Given the description of an element on the screen output the (x, y) to click on. 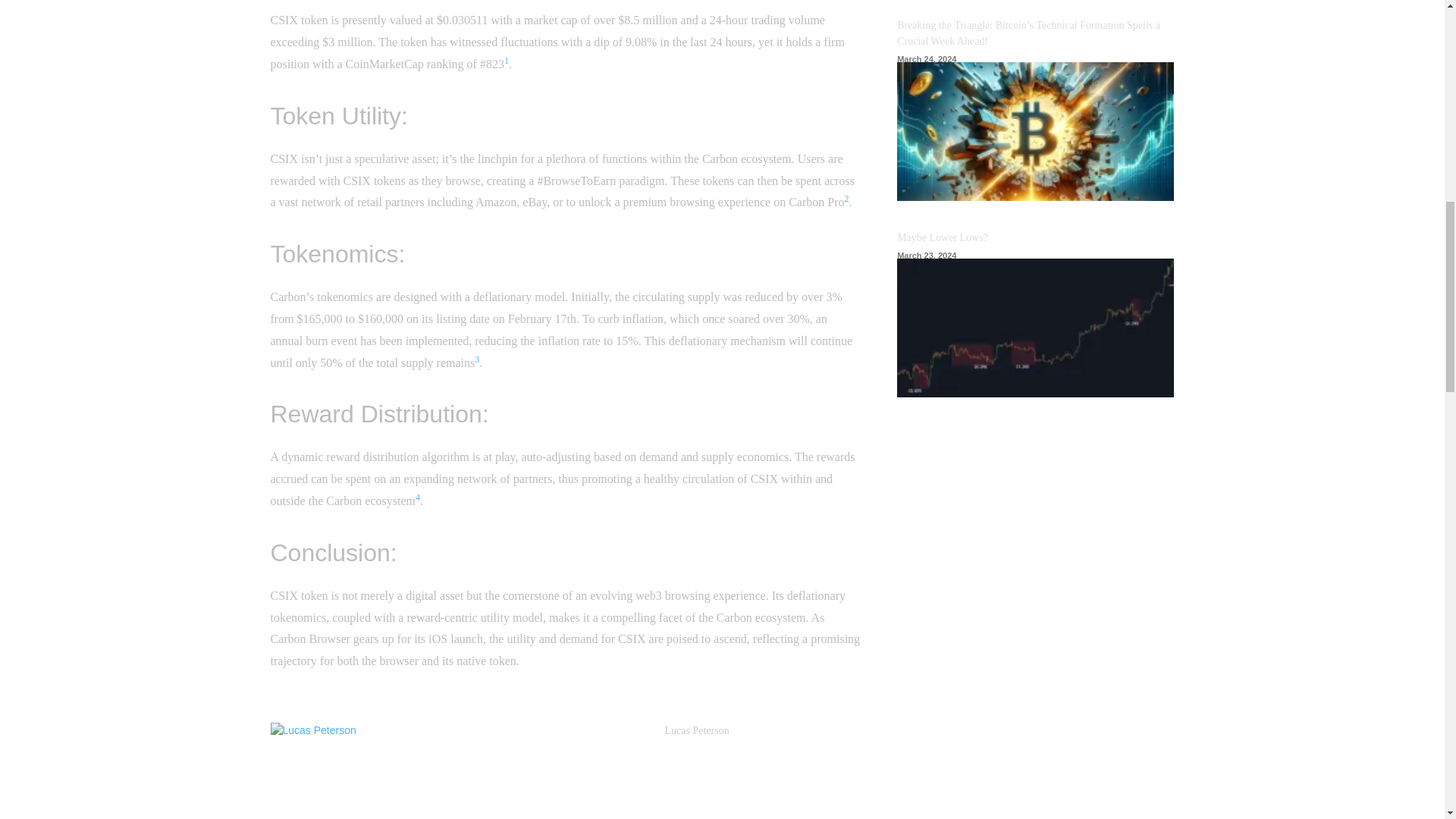
Maybe Lower Lows? (942, 237)
Maybe Lower Lows? (1034, 327)
Lucas Peterson (459, 770)
Lucas Peterson (696, 730)
